Given the description of an element on the screen output the (x, y) to click on. 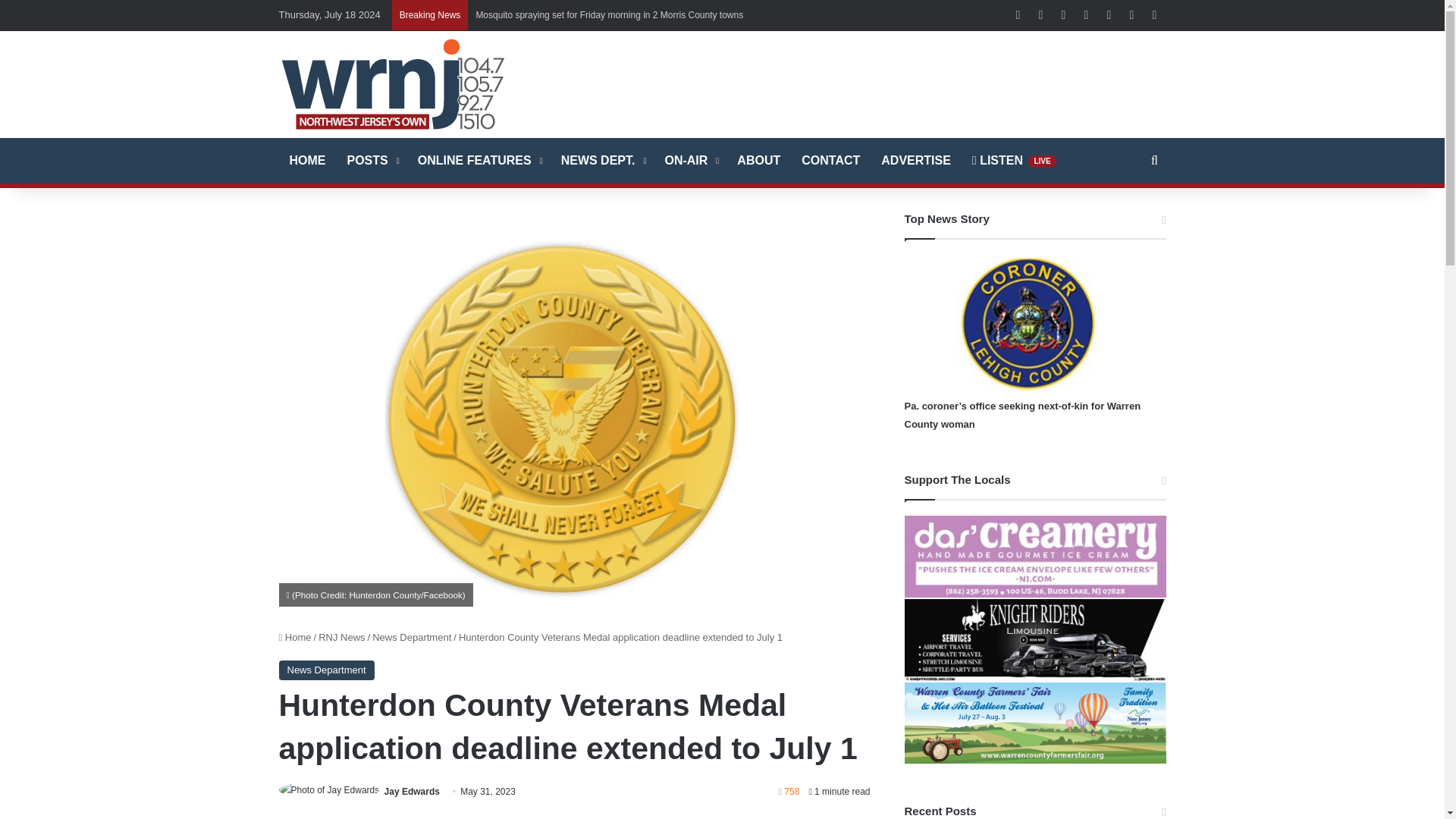
WRNJ Radio (392, 83)
ADVERTISE (915, 160)
CONTACT (830, 160)
POSTS (371, 160)
NEWS DEPT. (601, 160)
ABOUT (758, 160)
ONLINE FEATURES (478, 160)
HOME (307, 160)
ON-AIR (689, 160)
Jay Edwards (411, 791)
Knight Riders Limo (1035, 639)
Warren County Farmers Fair (1035, 723)
